Given the description of an element on the screen output the (x, y) to click on. 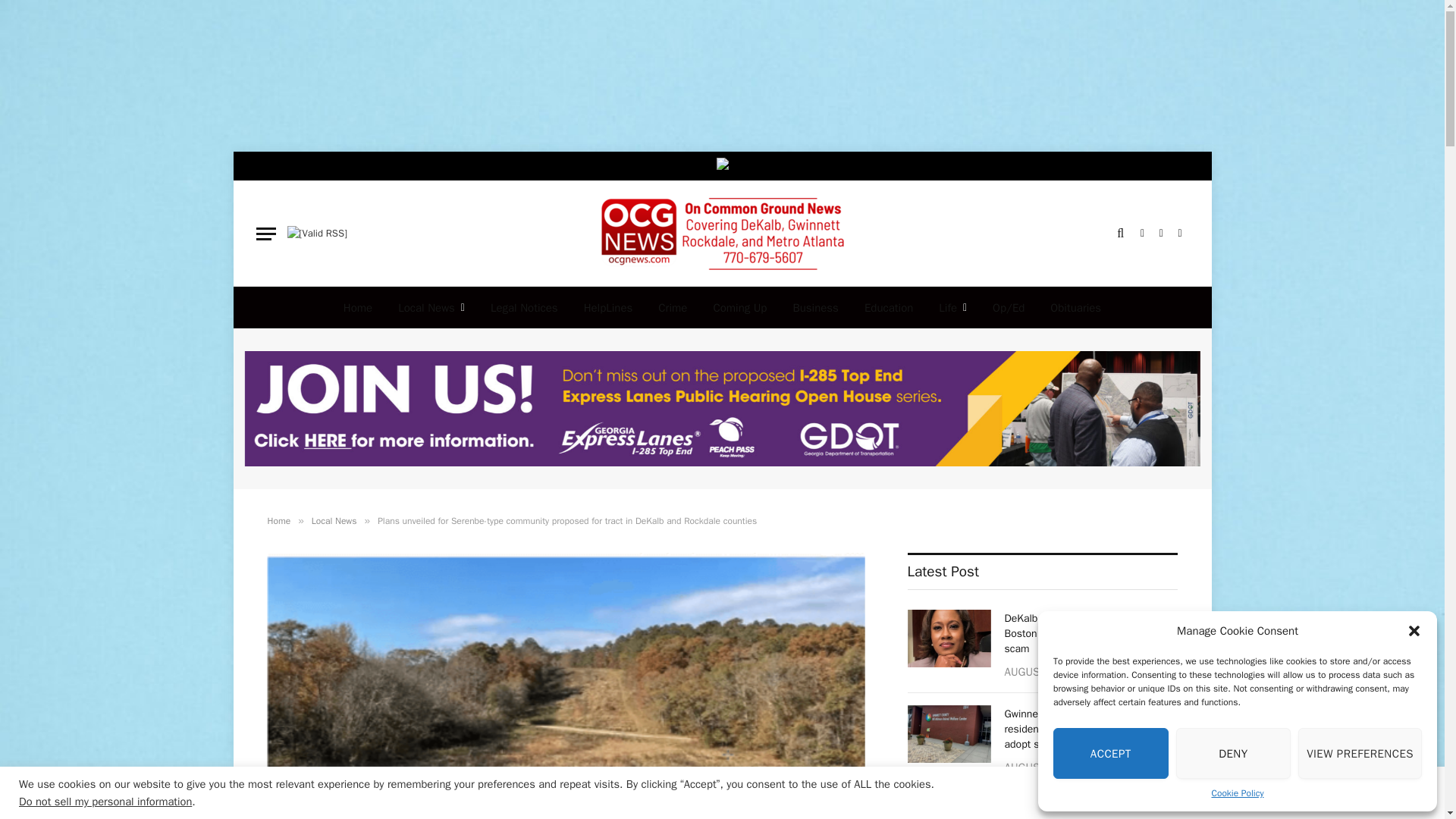
ACCEPT (1110, 753)
Validate my RSS feed (316, 233)
VIEW PREFERENCES (1360, 753)
Cookie Policy (1237, 793)
DENY (1233, 753)
